Given the description of an element on the screen output the (x, y) to click on. 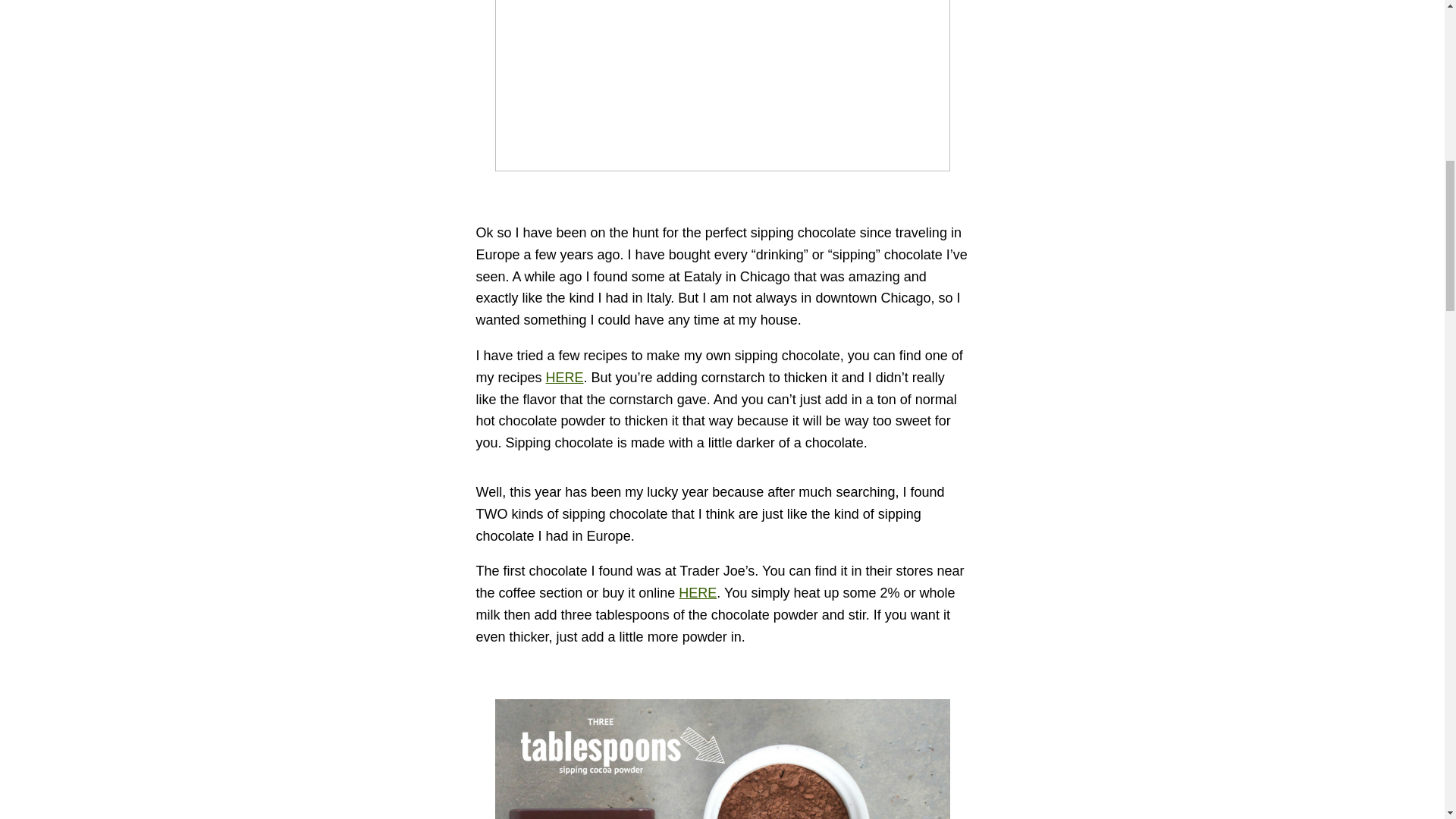
HERE (697, 592)
HERE (564, 377)
